Given the description of an element on the screen output the (x, y) to click on. 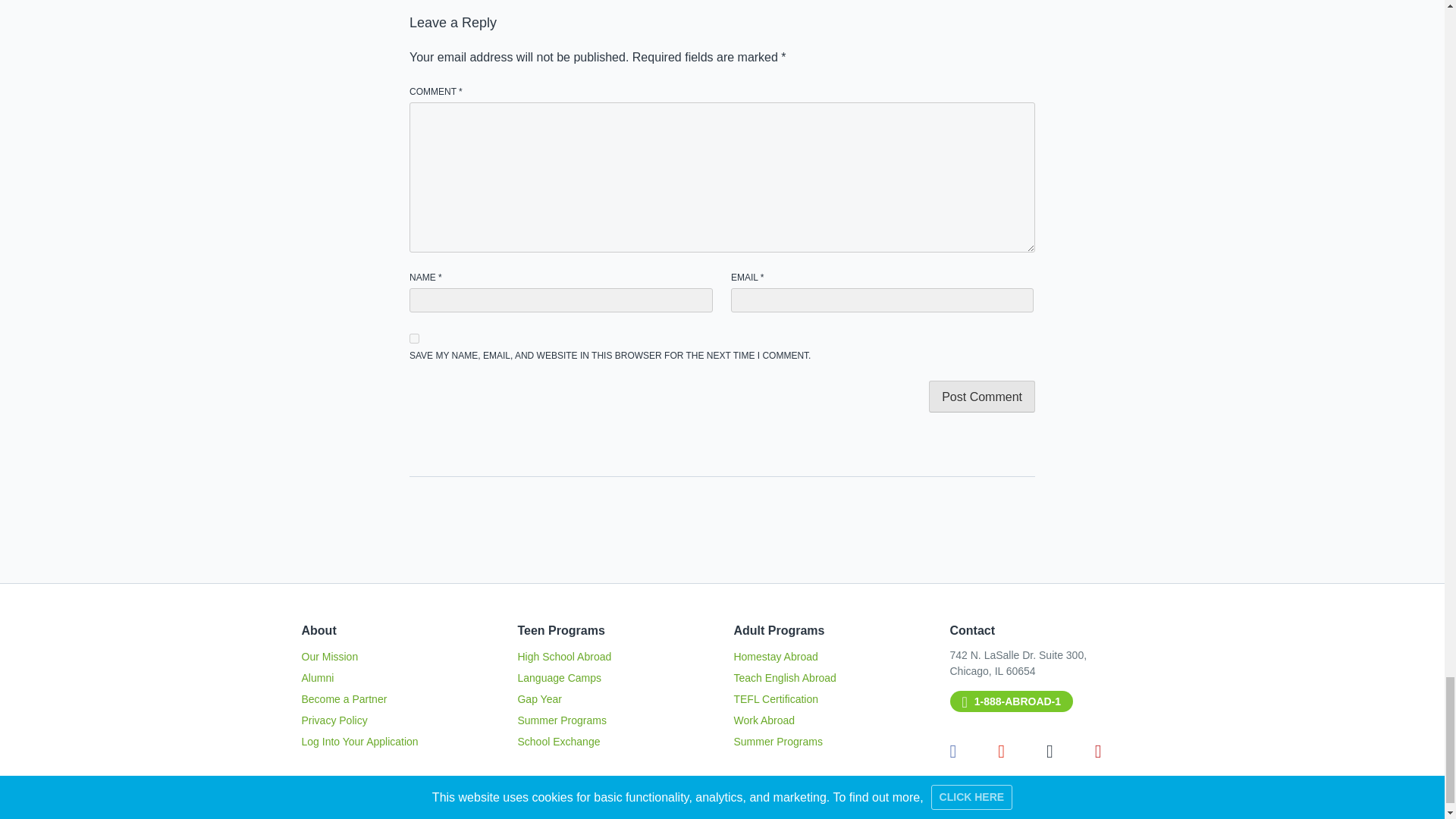
Post Comment (981, 396)
yes (414, 338)
